Given the description of an element on the screen output the (x, y) to click on. 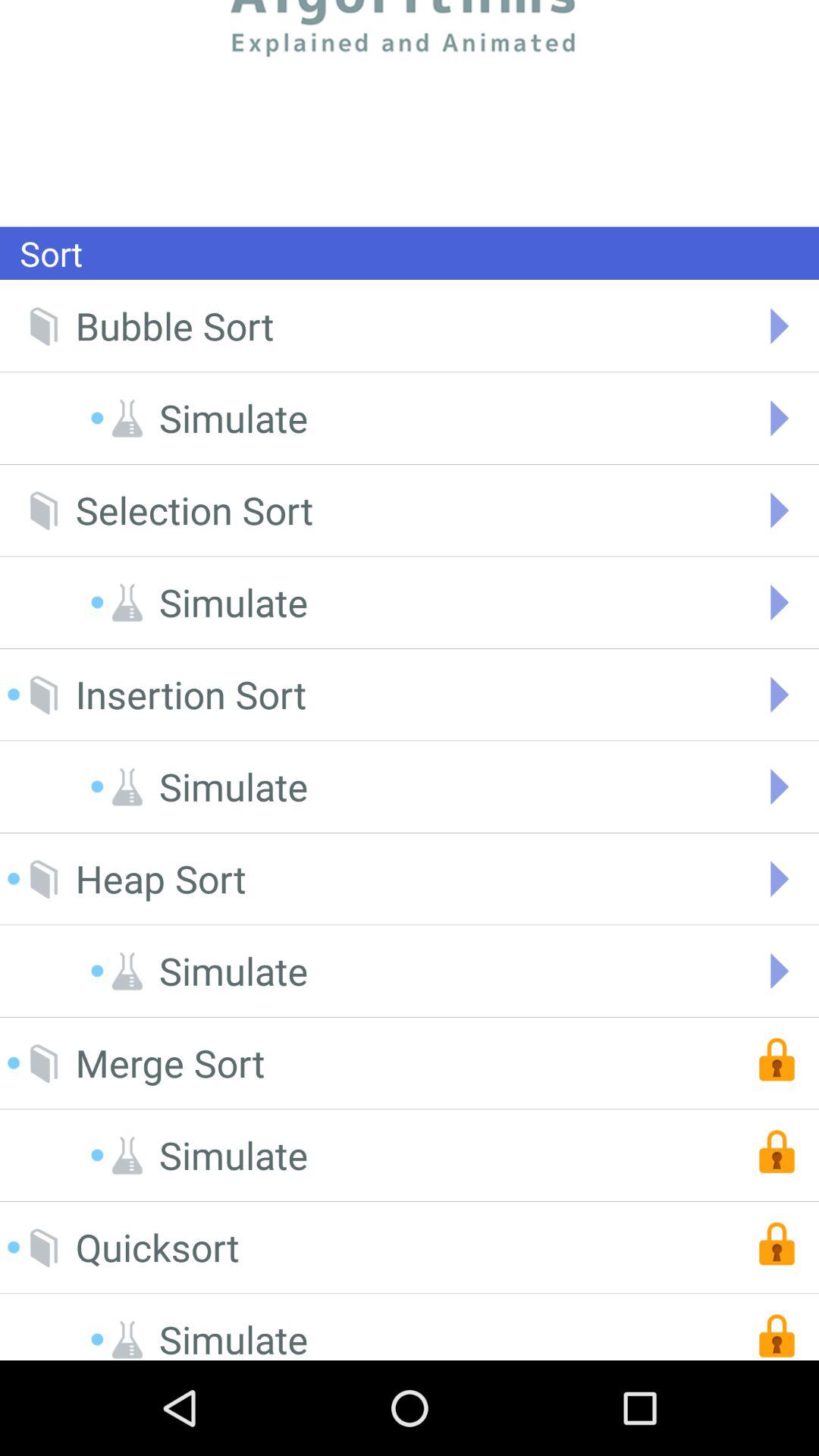
click item below simulate (157, 1247)
